Given the description of an element on the screen output the (x, y) to click on. 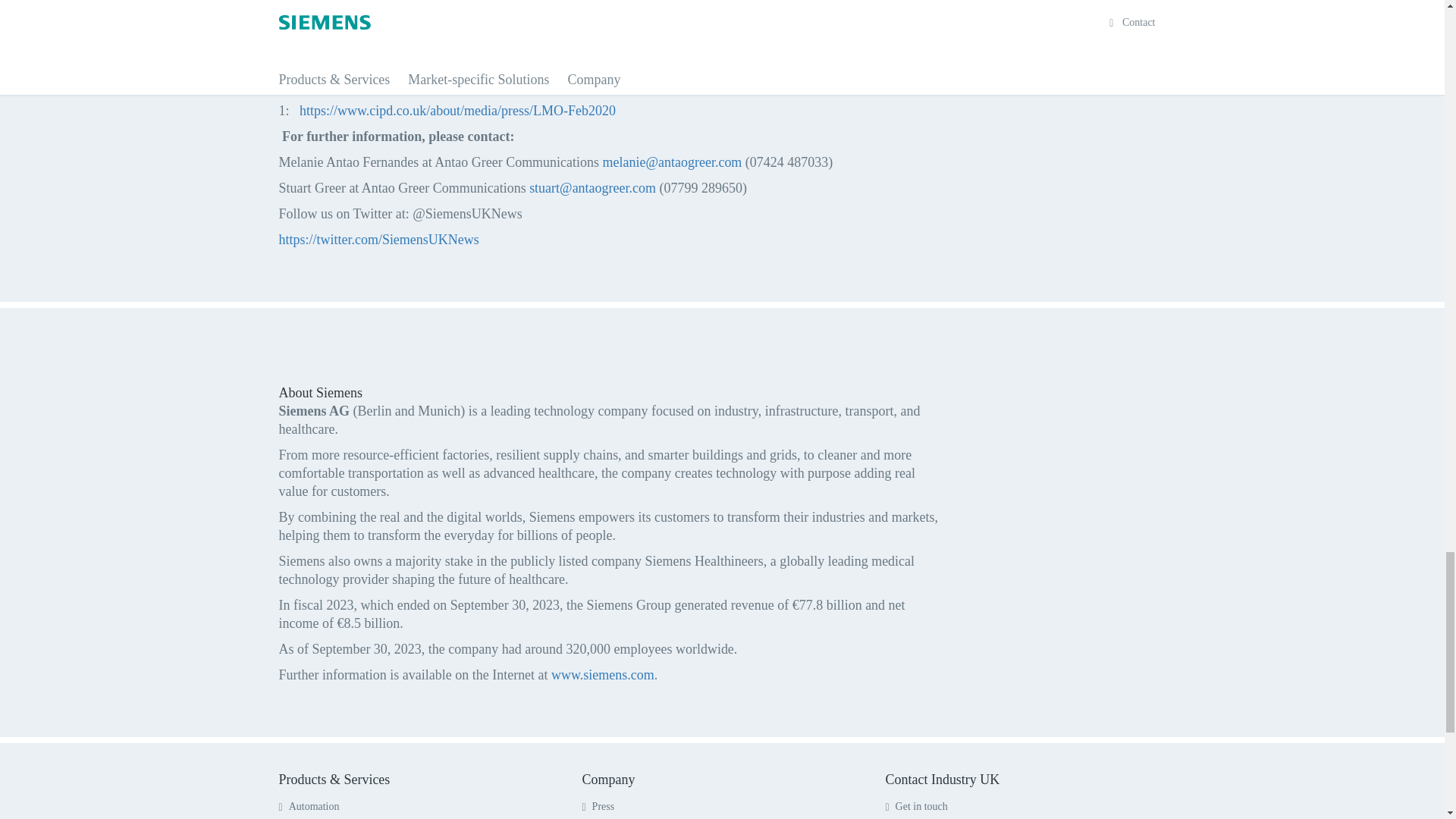
Automation (309, 806)
www.siemens.com (602, 674)
Automation (309, 806)
